Given the description of an element on the screen output the (x, y) to click on. 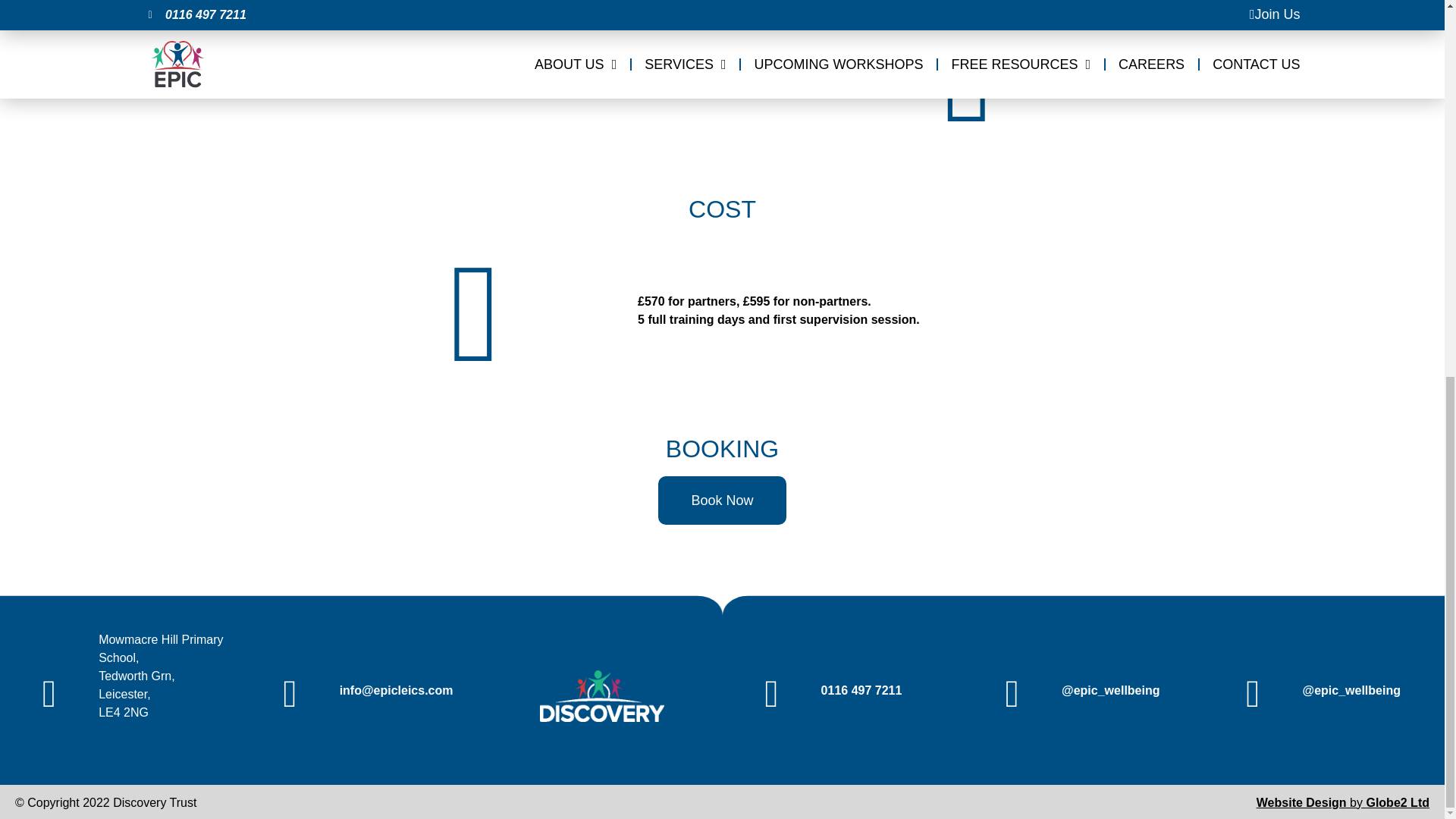
Website Design (1301, 802)
